Given the description of an element on the screen output the (x, y) to click on. 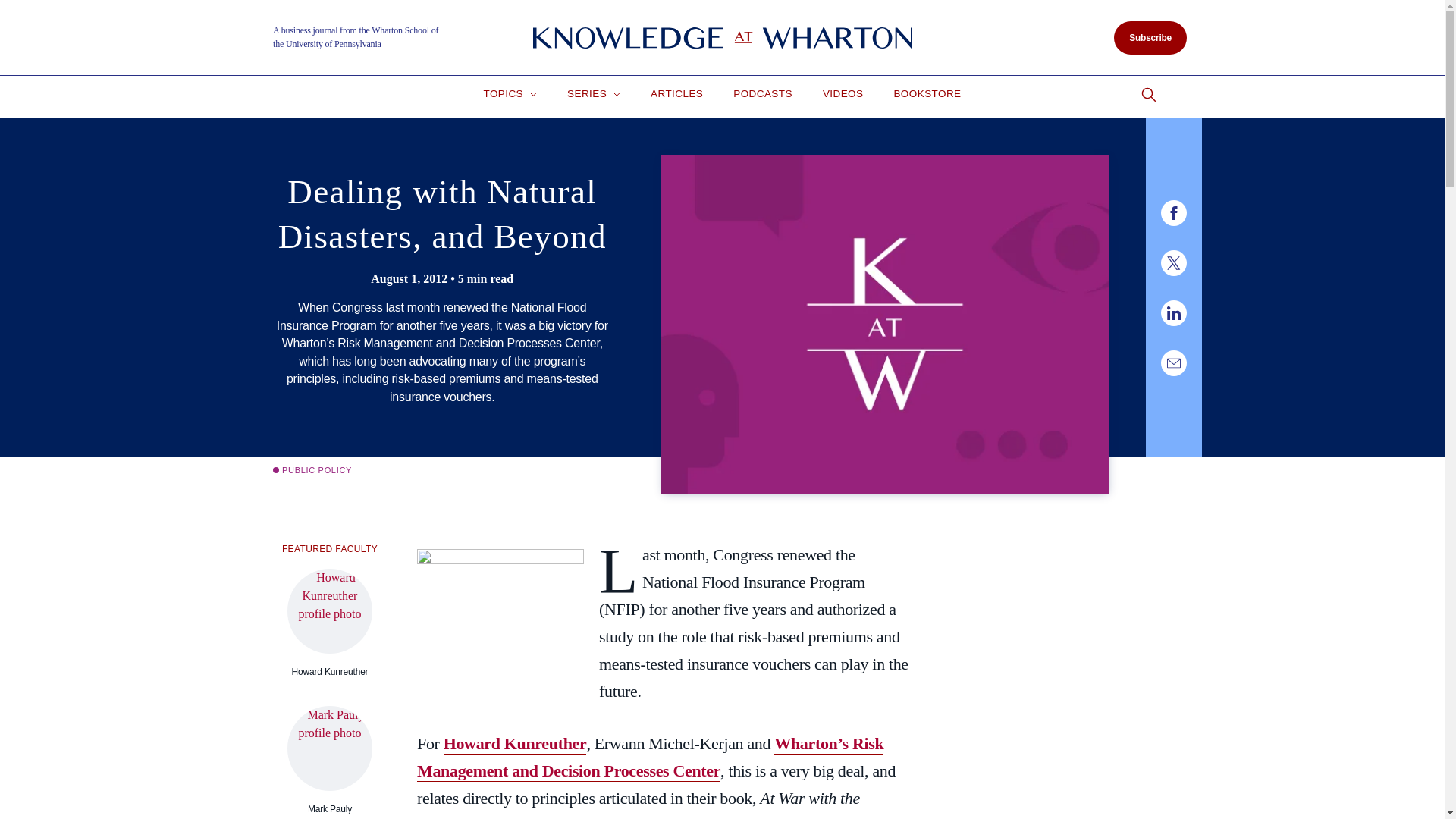
Share this page on LinkedIn (1173, 312)
Share this page on Facebook (1173, 212)
Knowledge at Wharton (721, 37)
Subscribe (1149, 37)
Share this page by email (1173, 362)
Go to site search (1148, 94)
Share this page on Twitter (1173, 263)
hurricane (499, 605)
